Given the description of an element on the screen output the (x, y) to click on. 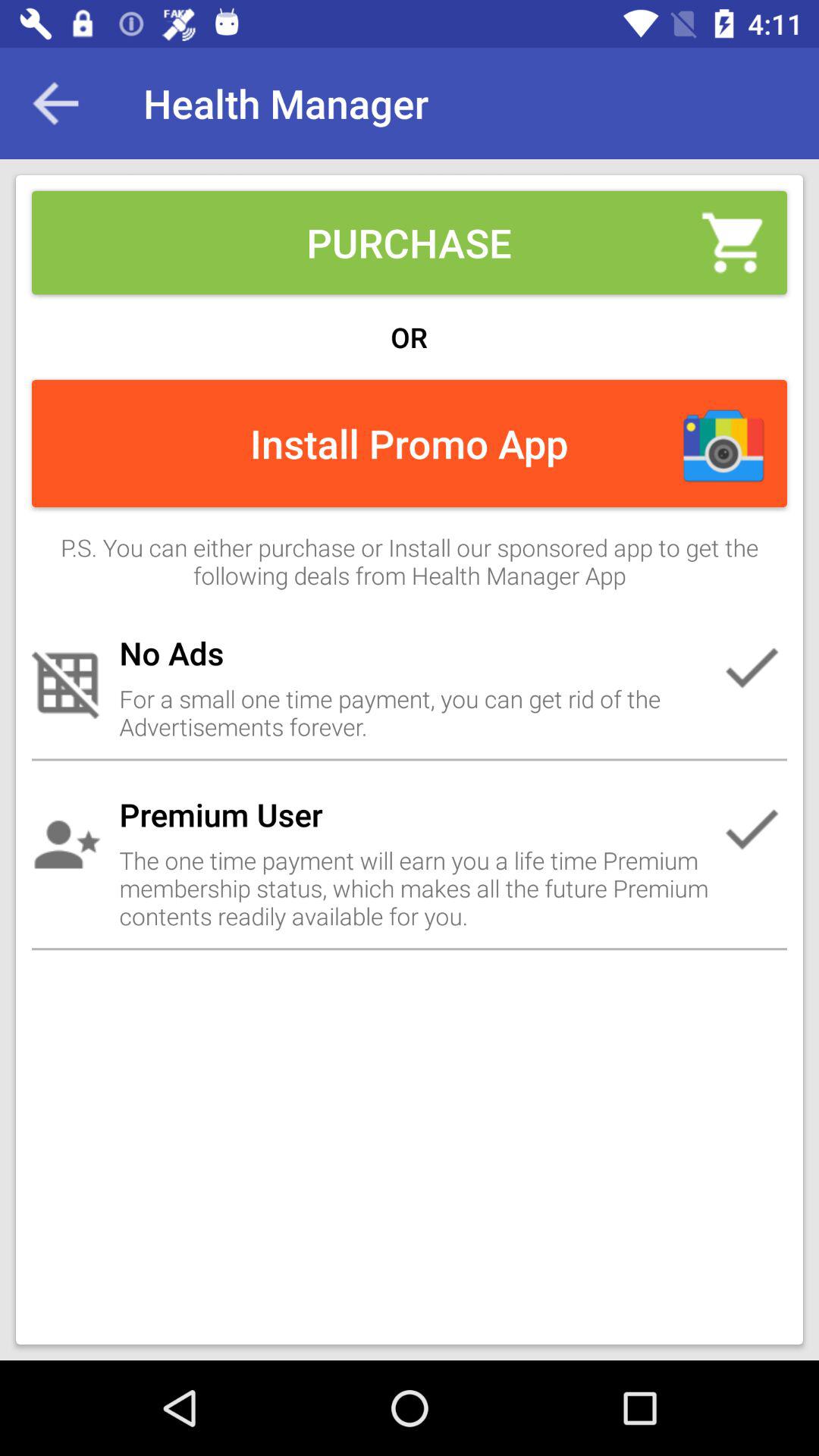
turn on icon above the p s you (55, 103)
